Given the description of an element on the screen output the (x, y) to click on. 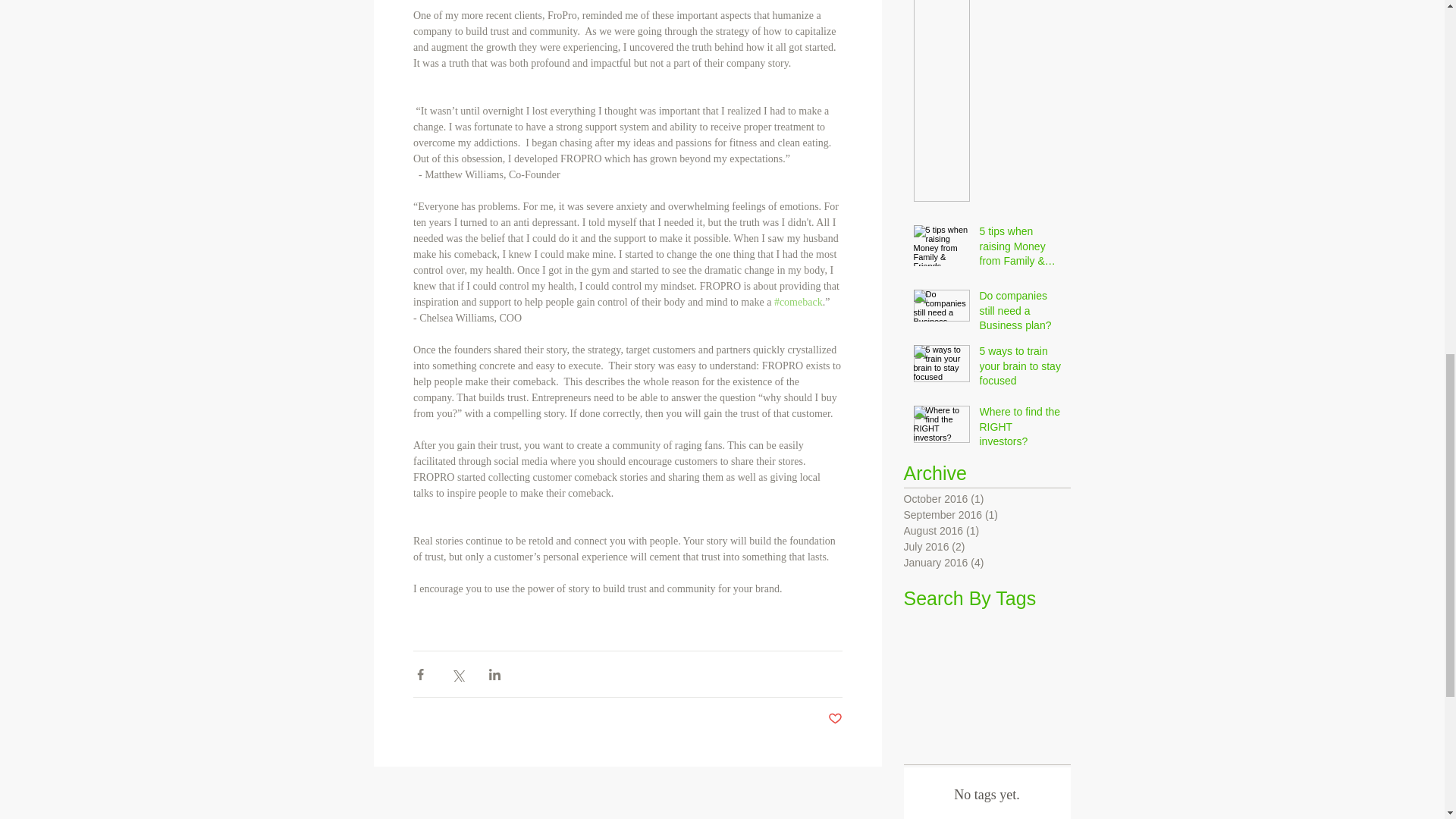
Where to find the RIGHT investors? (1020, 429)
Post not marked as liked (835, 719)
5 ways to train your brain to stay focused (1020, 368)
Do companies still need a Business plan? (1020, 314)
